Given the description of an element on the screen output the (x, y) to click on. 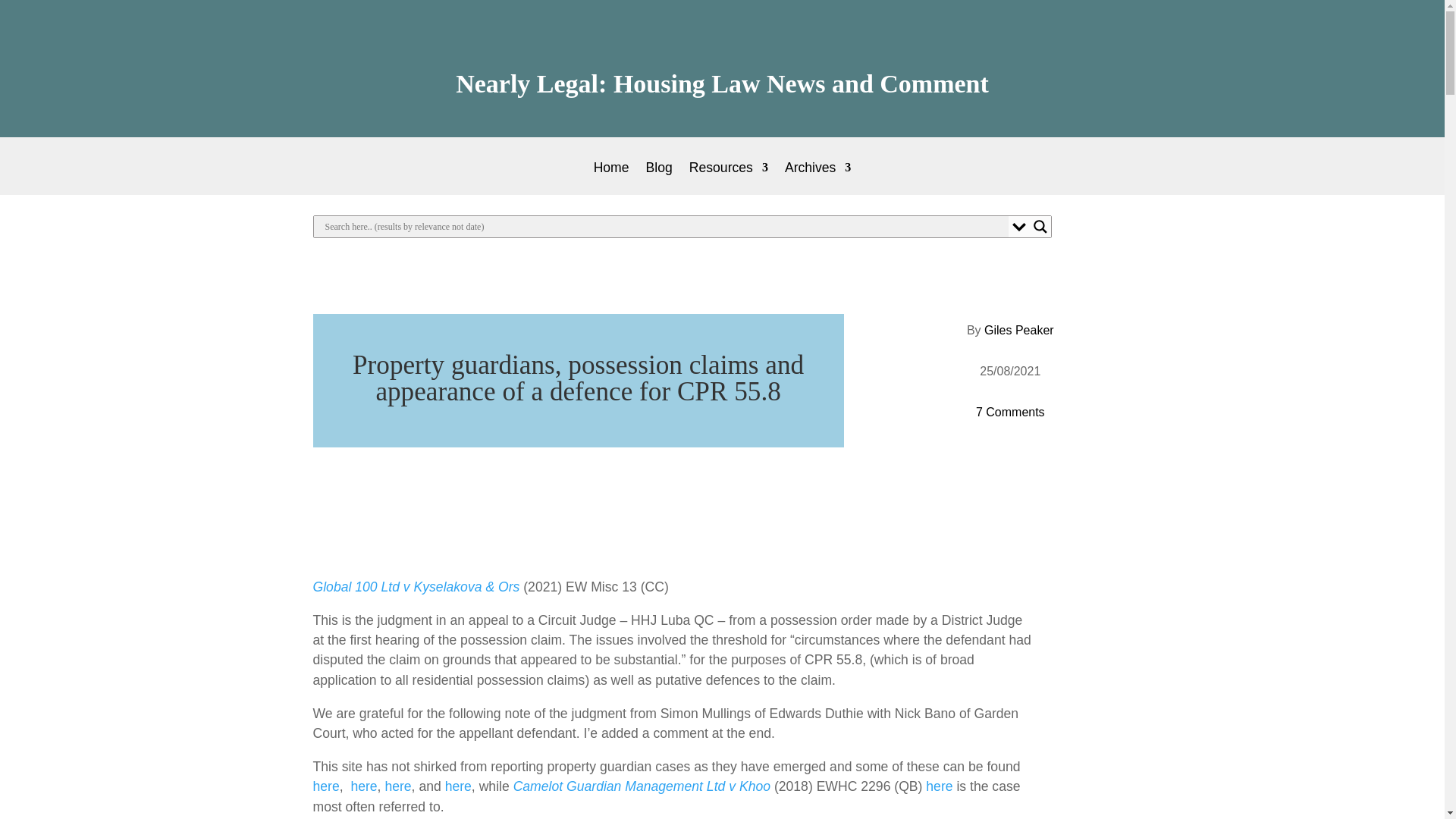
Home (611, 178)
Archives (817, 178)
Resources (728, 178)
